Given the description of an element on the screen output the (x, y) to click on. 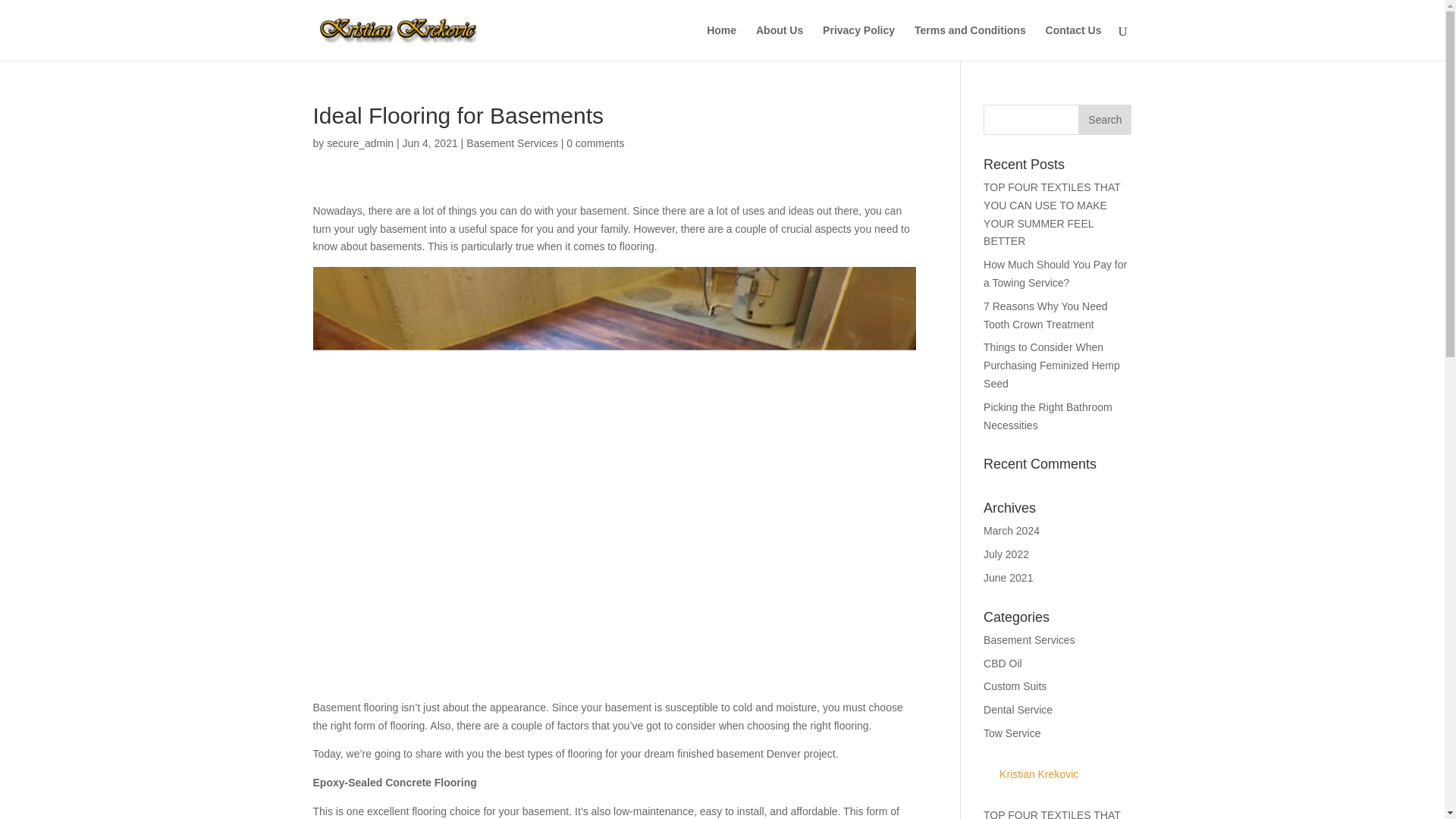
Privacy Policy (858, 42)
How Much Should You Pay for a Towing Service?  (1055, 273)
Search (1104, 119)
Things to Consider When Purchasing Feminized Hemp Seed  (1051, 365)
July 2022 (1006, 553)
Contact Us (1073, 42)
About Us (779, 42)
7 Reasons Why You Need Tooth Crown Treatment  (1045, 315)
Kristian Krekovic (1031, 774)
Basement Services (1029, 639)
Tow Service (1012, 733)
June 2021 (1008, 577)
Custom Suits (1015, 686)
